Given the description of an element on the screen output the (x, y) to click on. 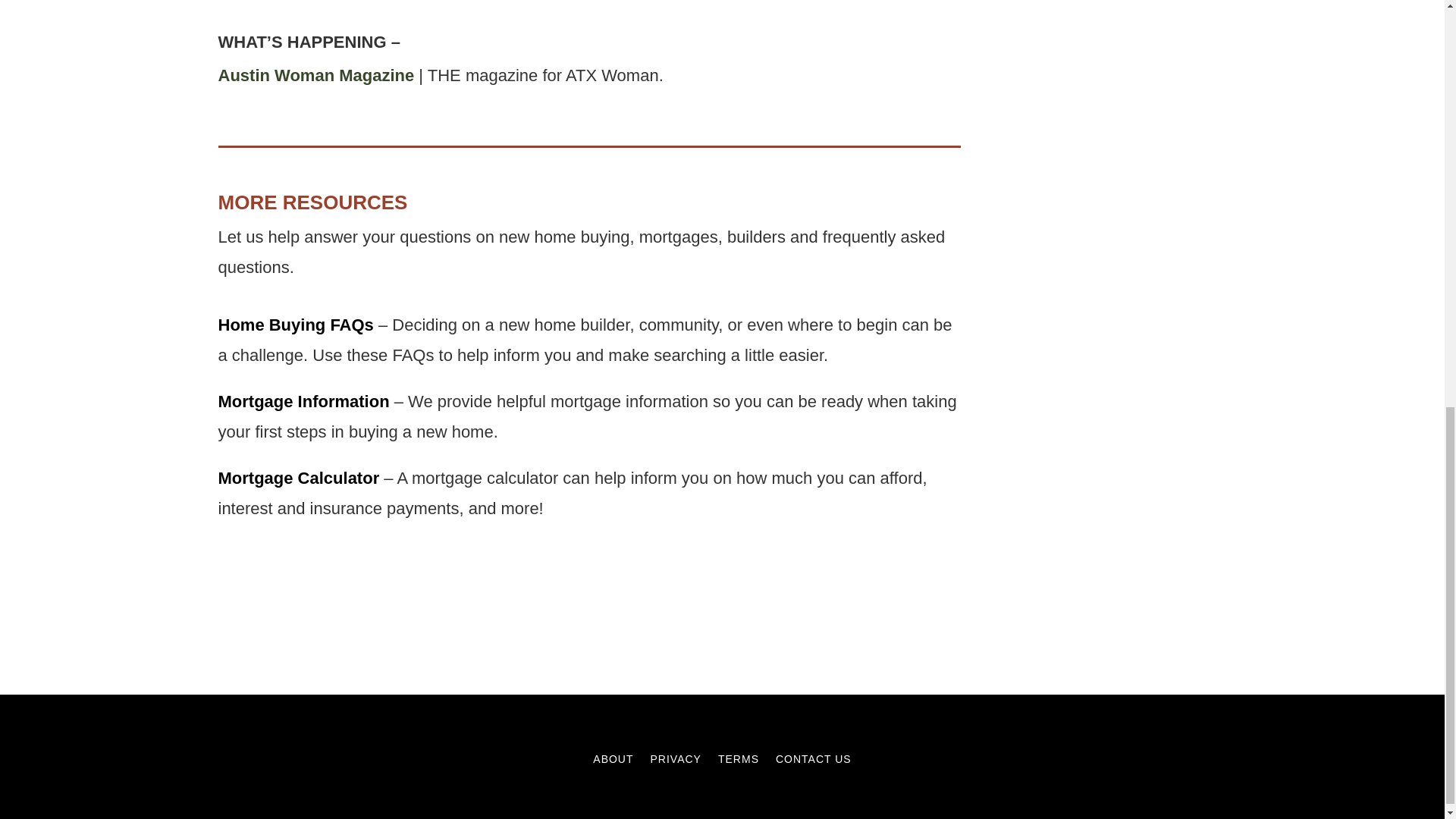
ABOUT (612, 761)
TERMS (737, 761)
Mortgage Calculator (299, 477)
CONTACT US (813, 761)
Mortgage Information (304, 401)
Home Buying FAQs (296, 324)
Austin Woman Magazine (316, 75)
PRIVACY (675, 761)
